Given the description of an element on the screen output the (x, y) to click on. 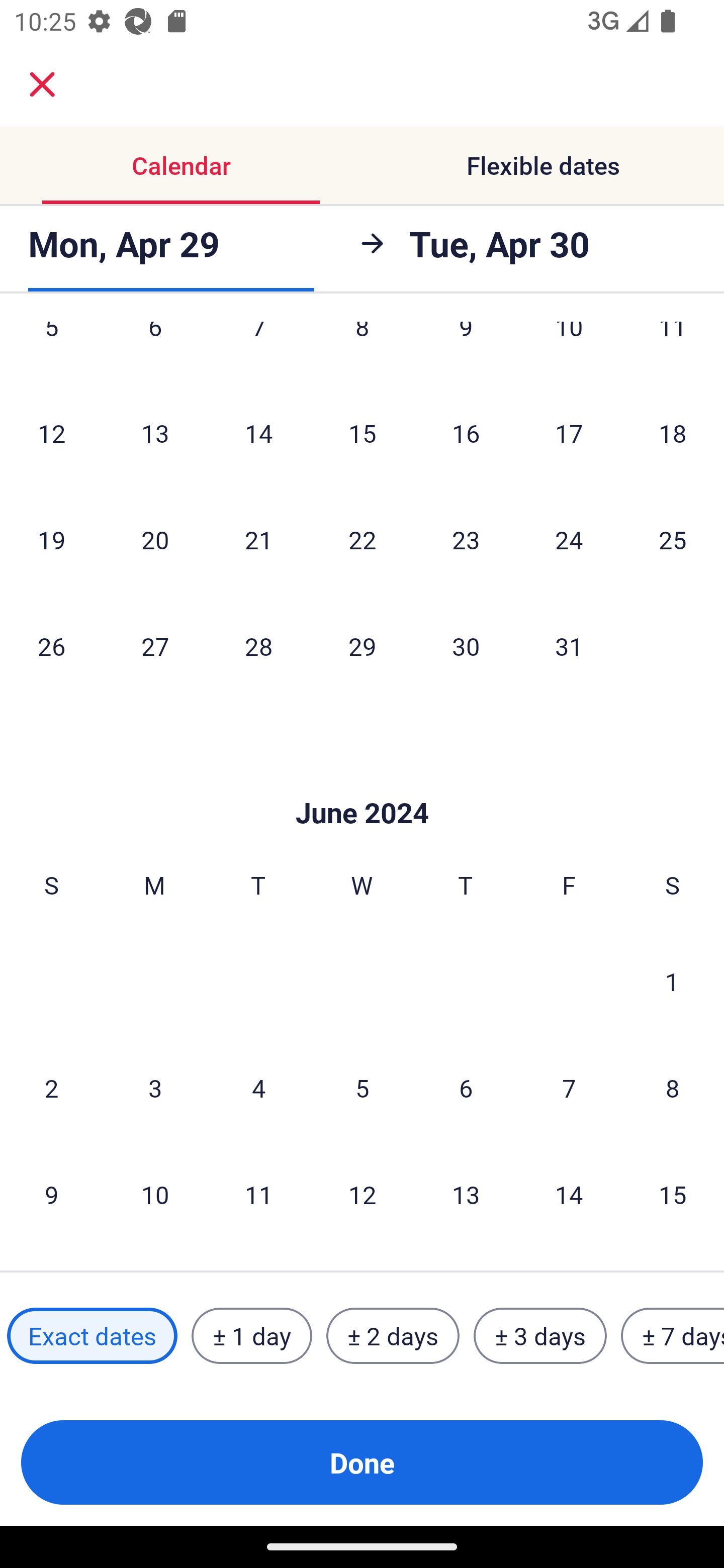
close. (42, 84)
Flexible dates (542, 164)
5 Sunday, May 5, 2024 (51, 349)
6 Monday, May 6, 2024 (155, 349)
7 Tuesday, May 7, 2024 (258, 349)
8 Wednesday, May 8, 2024 (362, 349)
9 Thursday, May 9, 2024 (465, 349)
10 Friday, May 10, 2024 (569, 349)
11 Saturday, May 11, 2024 (672, 349)
12 Sunday, May 12, 2024 (51, 432)
13 Monday, May 13, 2024 (155, 432)
14 Tuesday, May 14, 2024 (258, 432)
15 Wednesday, May 15, 2024 (362, 432)
16 Thursday, May 16, 2024 (465, 432)
17 Friday, May 17, 2024 (569, 432)
18 Saturday, May 18, 2024 (672, 432)
19 Sunday, May 19, 2024 (51, 539)
20 Monday, May 20, 2024 (155, 539)
21 Tuesday, May 21, 2024 (258, 539)
22 Wednesday, May 22, 2024 (362, 539)
23 Thursday, May 23, 2024 (465, 539)
24 Friday, May 24, 2024 (569, 539)
25 Saturday, May 25, 2024 (672, 539)
26 Sunday, May 26, 2024 (51, 645)
27 Monday, May 27, 2024 (155, 645)
28 Tuesday, May 28, 2024 (258, 645)
29 Wednesday, May 29, 2024 (362, 645)
30 Thursday, May 30, 2024 (465, 645)
31 Friday, May 31, 2024 (569, 645)
Skip to Done (362, 782)
1 Saturday, June 1, 2024 (672, 981)
2 Sunday, June 2, 2024 (51, 1087)
3 Monday, June 3, 2024 (155, 1087)
4 Tuesday, June 4, 2024 (258, 1087)
5 Wednesday, June 5, 2024 (362, 1087)
6 Thursday, June 6, 2024 (465, 1087)
7 Friday, June 7, 2024 (569, 1087)
8 Saturday, June 8, 2024 (672, 1087)
9 Sunday, June 9, 2024 (51, 1194)
10 Monday, June 10, 2024 (155, 1194)
11 Tuesday, June 11, 2024 (258, 1194)
12 Wednesday, June 12, 2024 (362, 1194)
13 Thursday, June 13, 2024 (465, 1194)
14 Friday, June 14, 2024 (569, 1194)
15 Saturday, June 15, 2024 (672, 1194)
Exact dates (92, 1335)
± 1 day (251, 1335)
± 2 days (392, 1335)
± 3 days (539, 1335)
± 7 days (672, 1335)
Done (361, 1462)
